Given the description of an element on the screen output the (x, y) to click on. 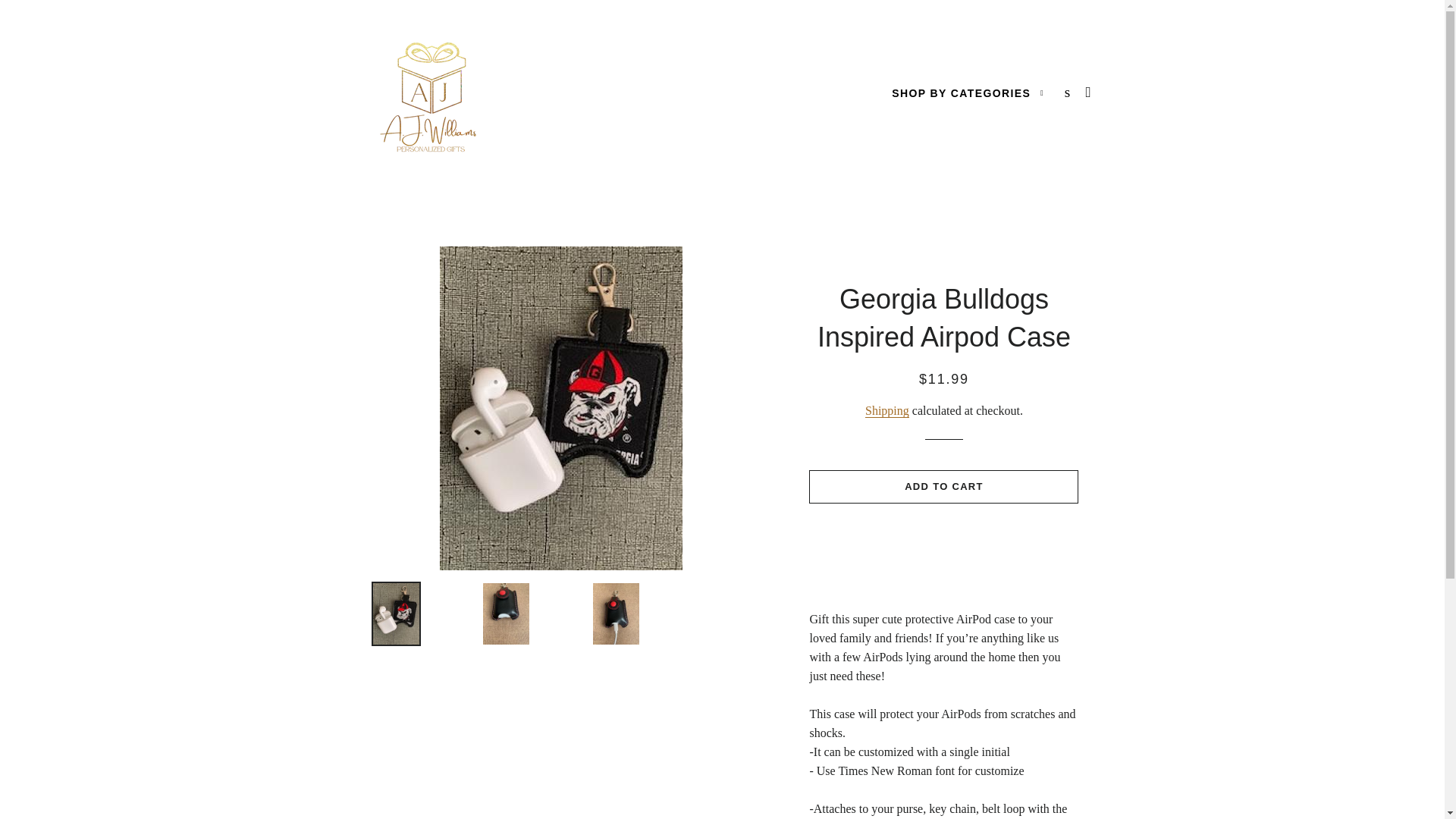
Shipping (886, 410)
SHOP BY CATEGORIES (967, 93)
ADD TO CART (943, 486)
